Given the description of an element on the screen output the (x, y) to click on. 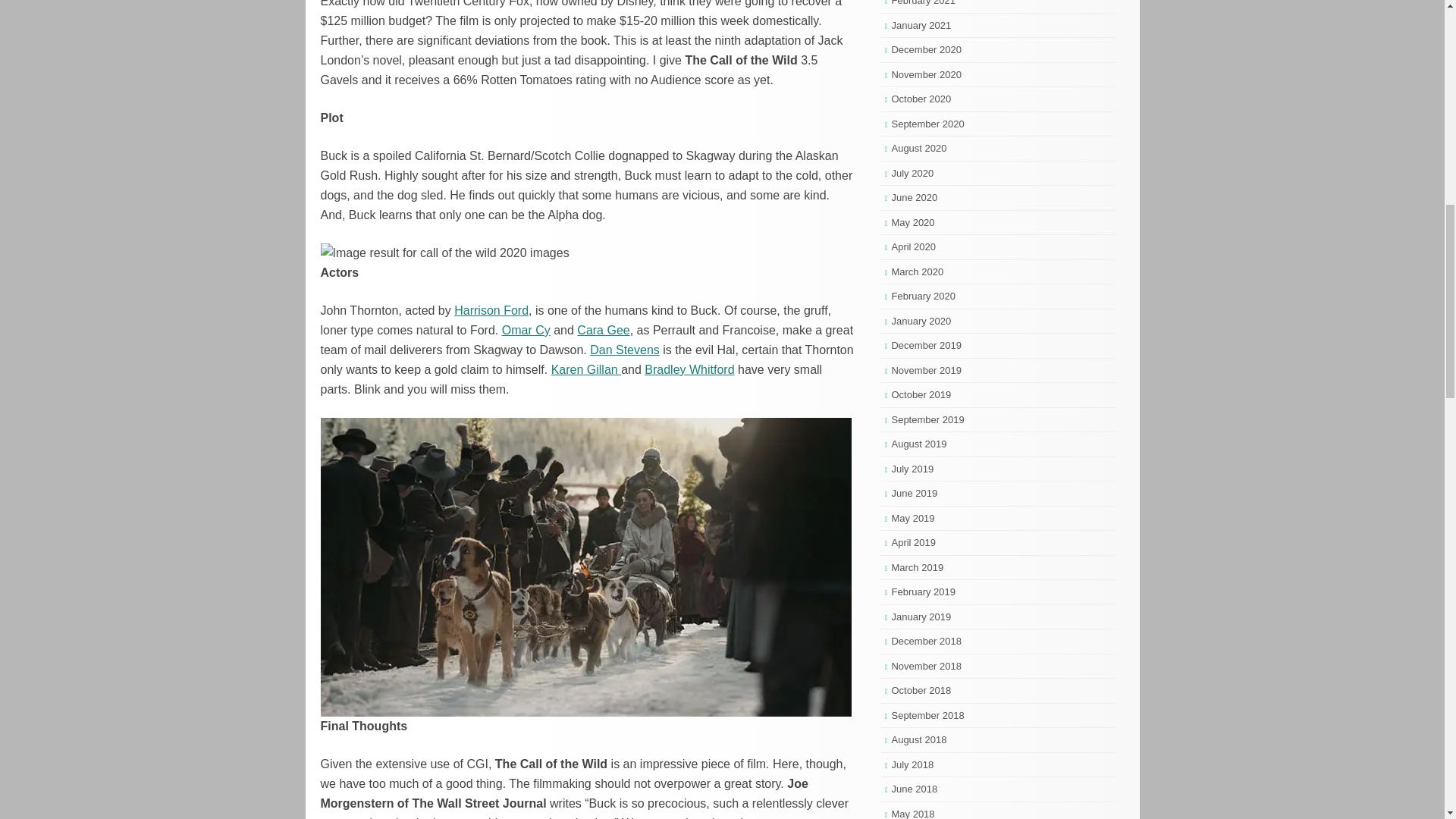
Karen Gillan (586, 369)
Omar Cy (526, 329)
Dan Stevens (624, 349)
Bradley Whitford (689, 369)
Cara Gee (602, 329)
Harrison Ford (491, 309)
